Given the description of an element on the screen output the (x, y) to click on. 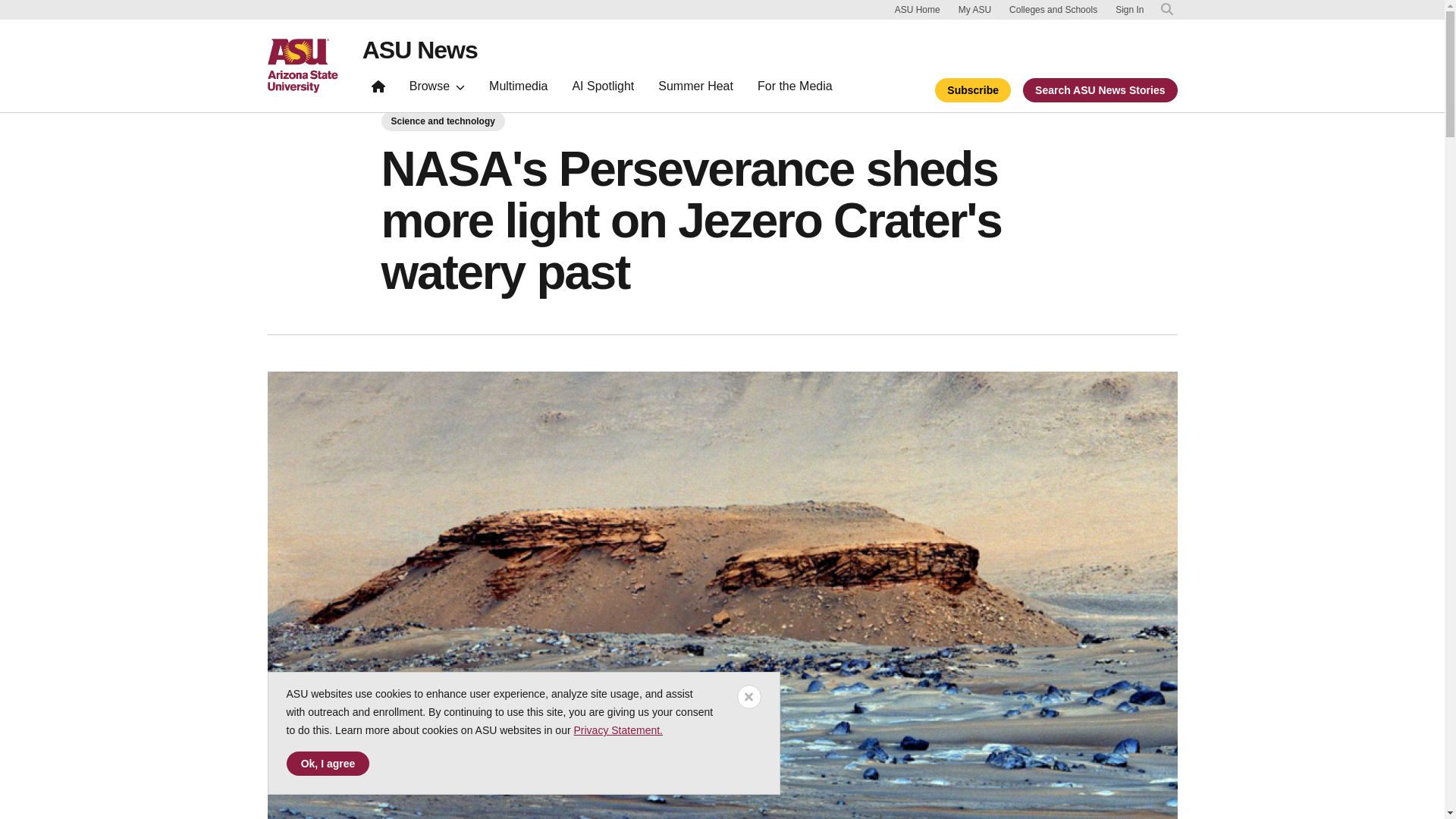
Browse (437, 89)
Summer Heat (695, 89)
Sign In (1128, 9)
ASU News home page (378, 89)
Browse (437, 89)
Multimedia (518, 89)
Summer Heat (695, 89)
For the Media (794, 89)
Subscribe (972, 88)
ASU home page (301, 65)
ASU News home page (419, 49)
For the Media (794, 89)
My ASU (974, 9)
Colleges and Schools (1053, 9)
